Given the description of an element on the screen output the (x, y) to click on. 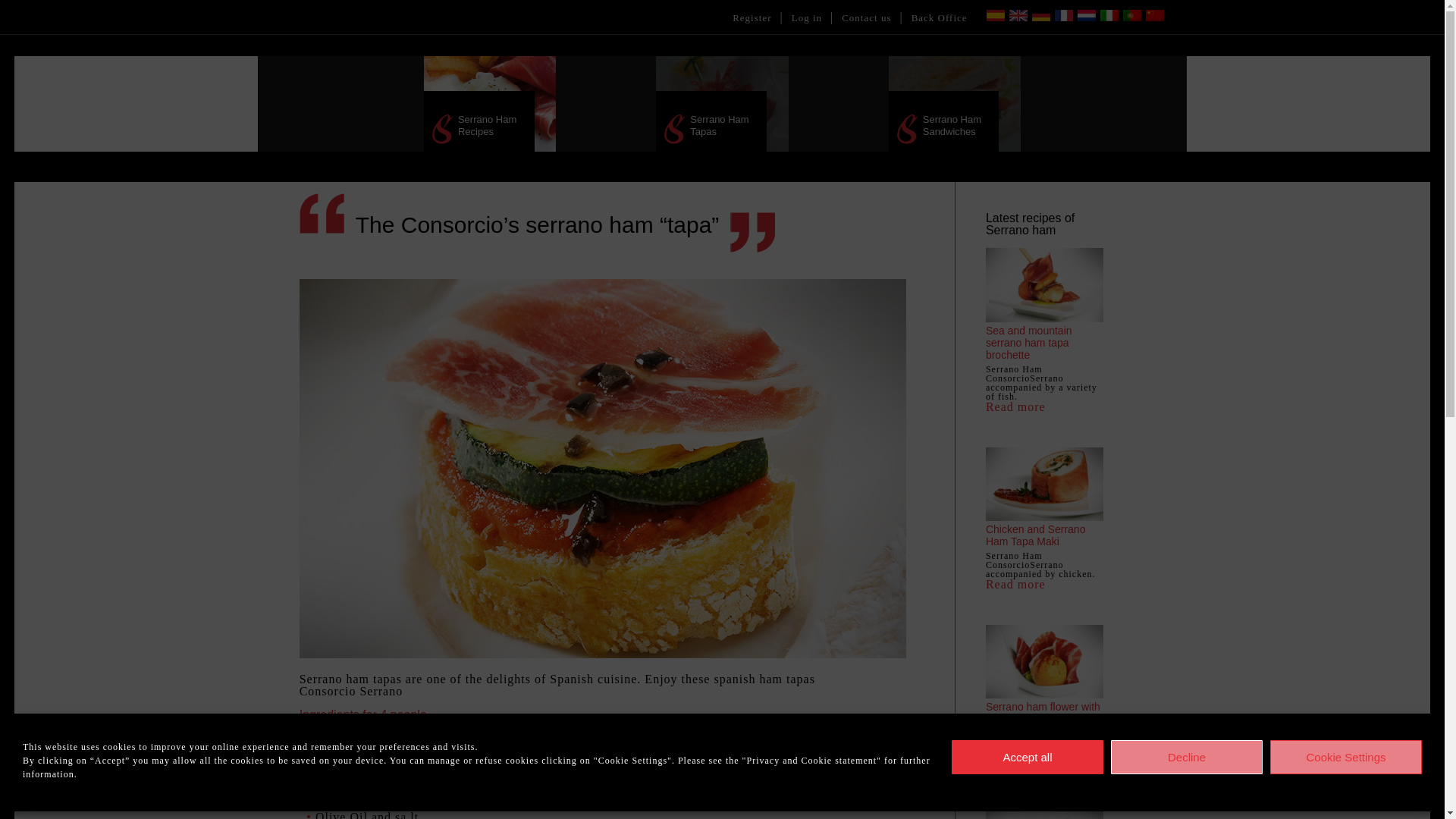
Register (751, 17)
"Privacy and Cookie statement" for further information. (476, 767)
Back Office (939, 17)
Accept all (1027, 756)
Contact us (866, 17)
Log in (807, 17)
Decline (1186, 756)
Log in (807, 17)
Register (751, 17)
Back Office (939, 17)
Cookie Settings (1345, 756)
